Given the description of an element on the screen output the (x, y) to click on. 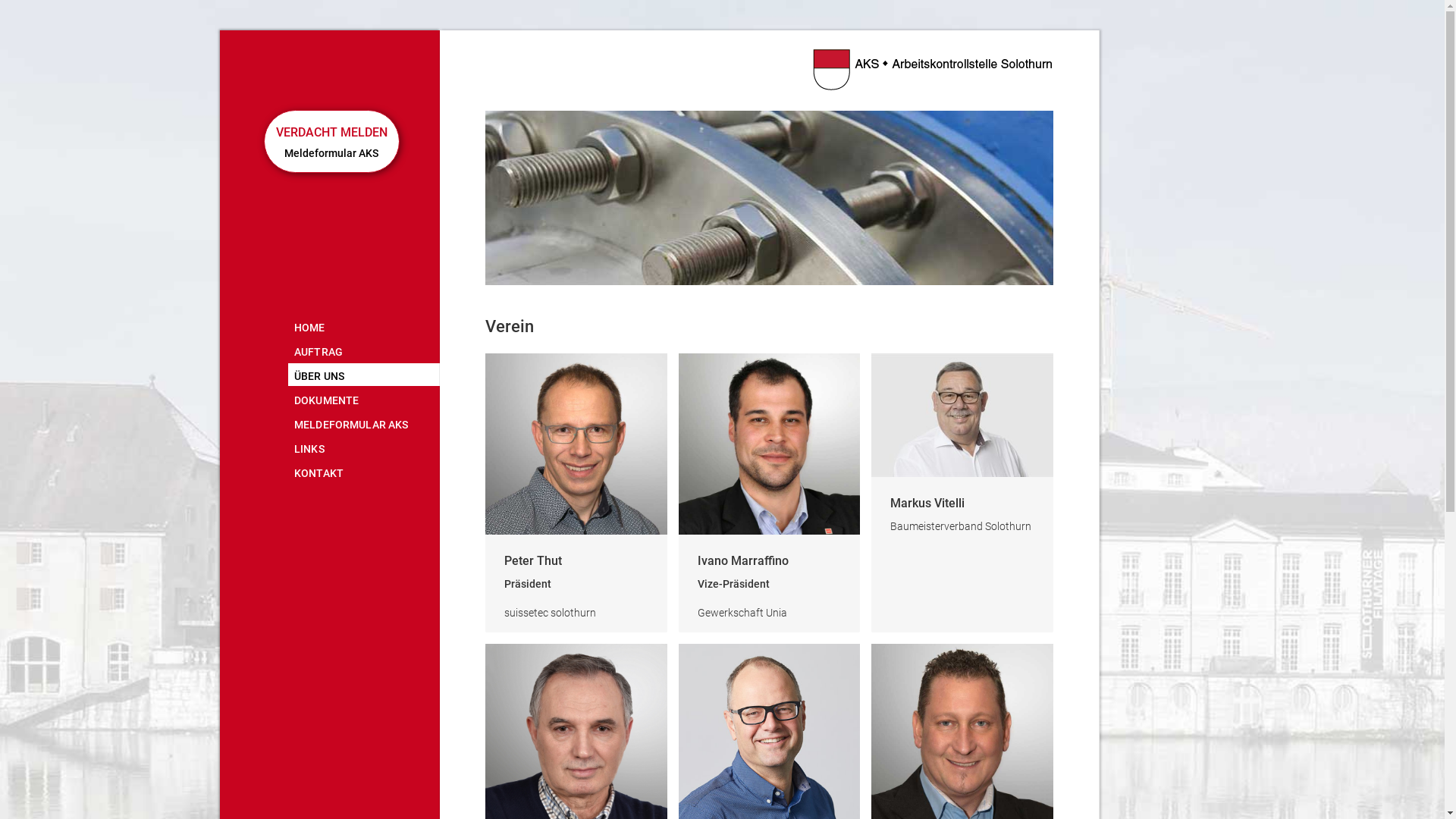
LINKS Element type: text (363, 447)
DOKUMENTE Element type: text (363, 398)
AUFTRAG Element type: text (363, 349)
VERDACHT MELDEN
Meldeformular AKS Element type: text (329, 132)
KONTAKT Element type: text (363, 471)
VERDACHT MELDEN
Meldeformular AKS Element type: text (331, 140)
HOME Element type: text (363, 325)
MELDEFORMULAR AKS Element type: text (363, 422)
